Given the description of an element on the screen output the (x, y) to click on. 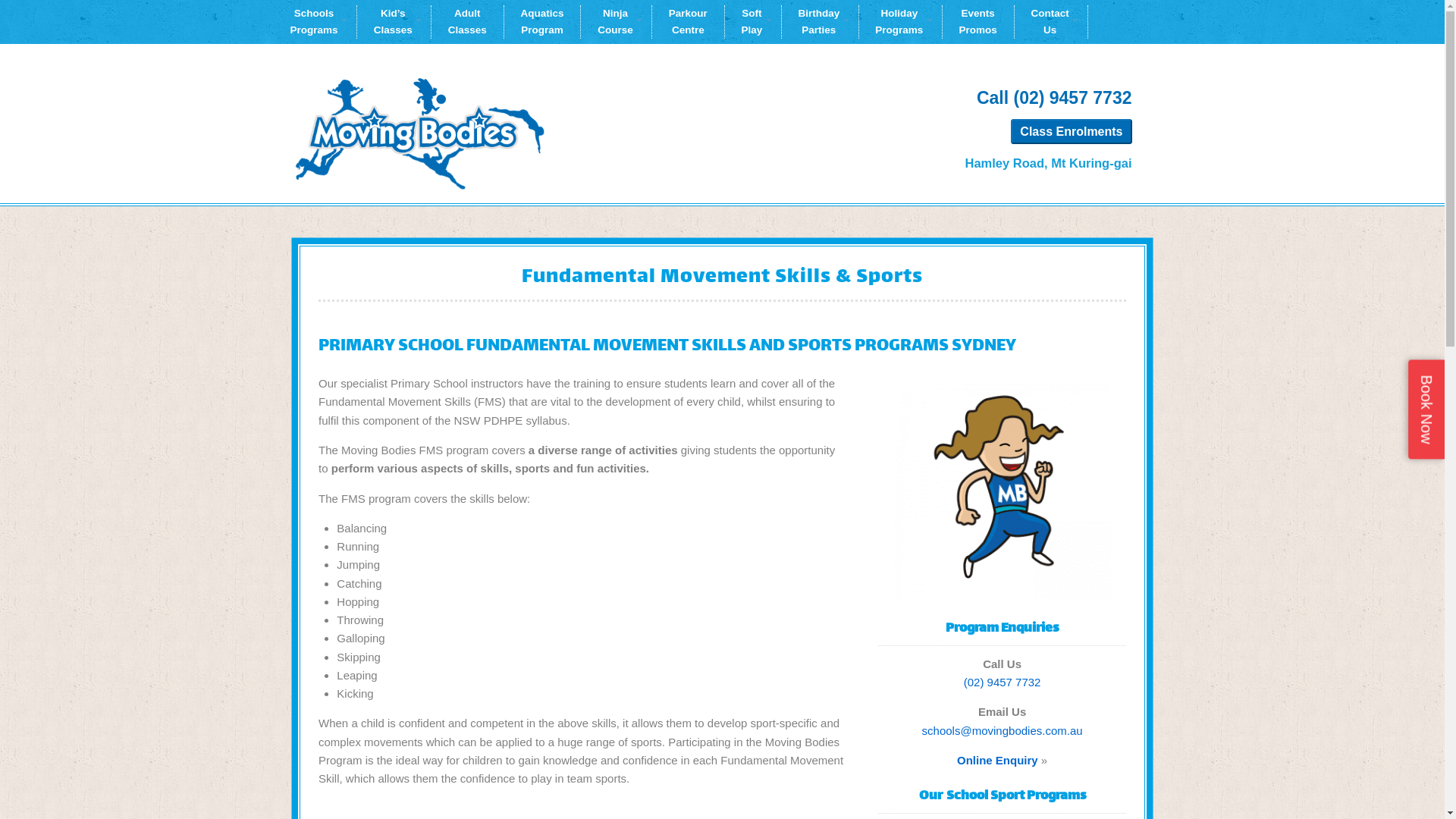
Online Enquiry Element type: text (997, 759)
Adult
Classes Element type: text (467, 21)
Schools
Programs Element type: text (322, 21)
Parkour
Centre Element type: text (688, 21)
(02) 9457 7732 Element type: text (1002, 681)
Class Enrolments Element type: text (1070, 131)
Soft
Play Element type: text (752, 21)
Holiday
Programs Element type: text (899, 21)
Aquatics
Program Element type: text (542, 21)
Birthday
Parties Element type: text (820, 21)
Events
Promos Element type: text (978, 21)
schools@movingbodies.com.au Element type: text (1002, 730)
Contact
Us Element type: text (1051, 21)
Ninja
Course Element type: text (616, 21)
Call (02) 9457 7732 Element type: text (1054, 97)
Kindergym and Recreational Gymnastics Element type: hover (419, 139)
